Given the description of an element on the screen output the (x, y) to click on. 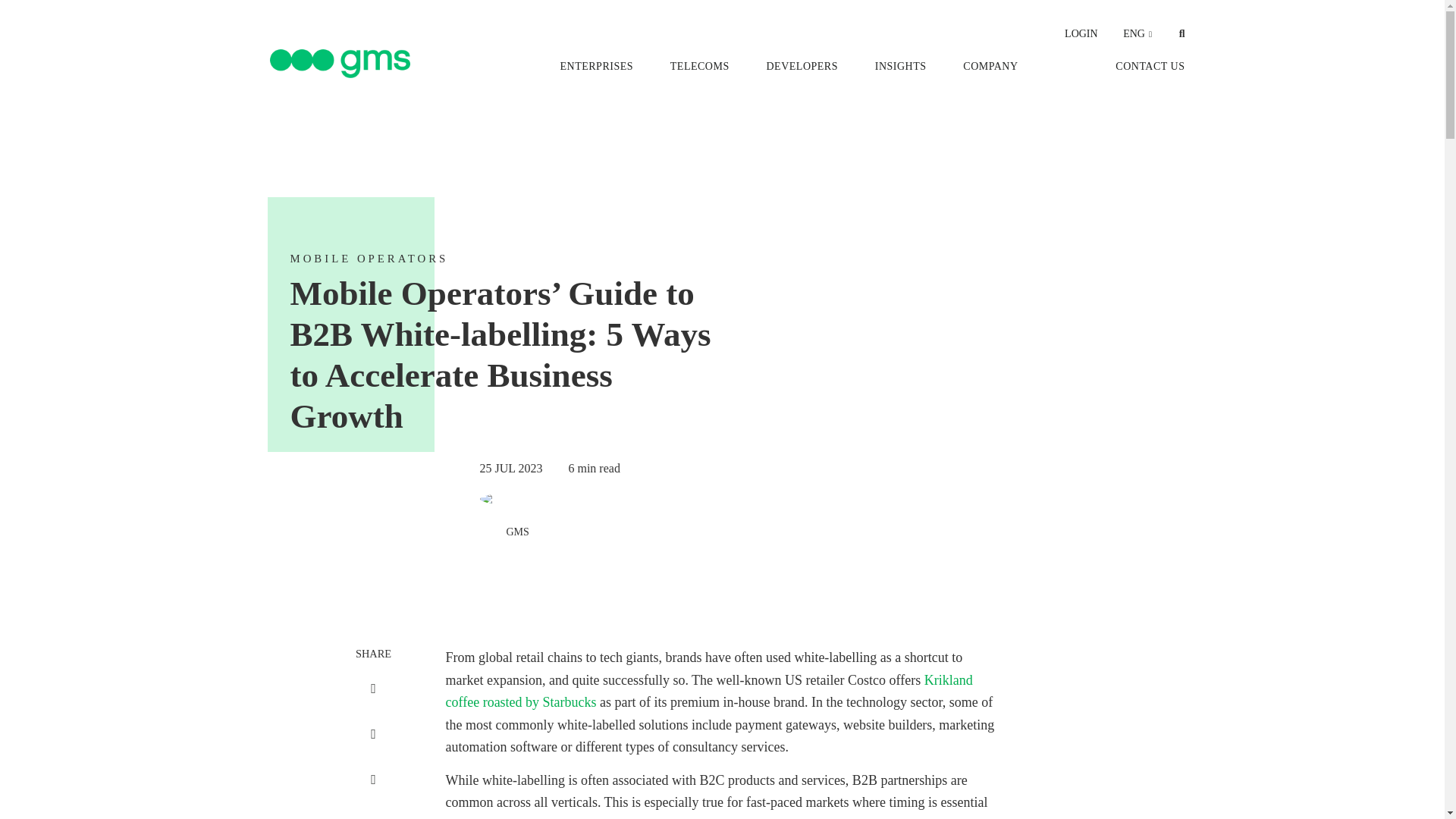
COMPANY (989, 66)
DEVELOPERS (801, 66)
INSIGHTS (900, 66)
TELECOMS (699, 66)
ENTERPRISES (596, 66)
